Given the description of an element on the screen output the (x, y) to click on. 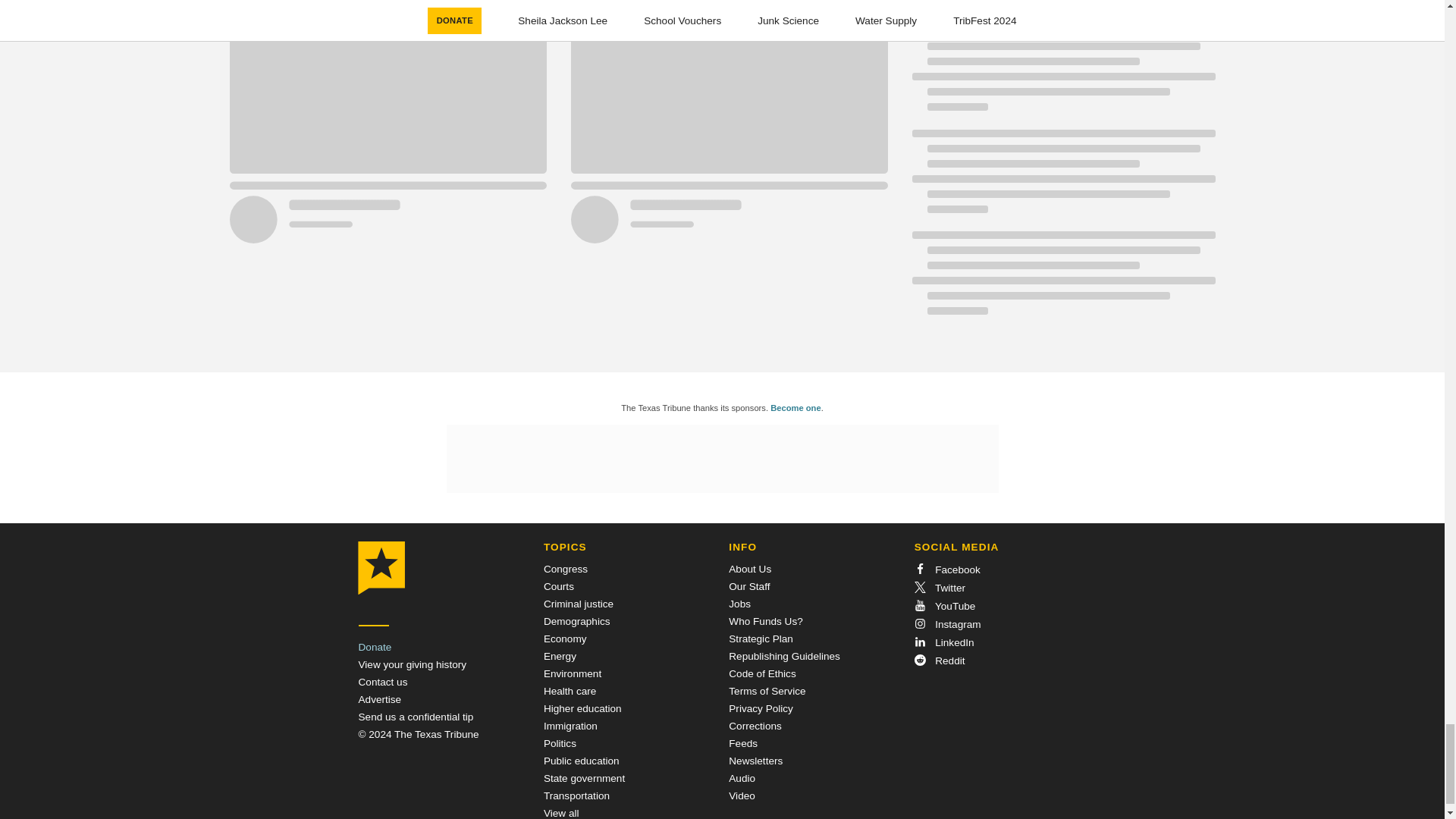
Loading indicator (557, 5)
Privacy Policy (761, 708)
Advertise (379, 699)
Who Funds Us? (765, 621)
Video (742, 795)
Strategic Plan (761, 638)
Newsletters (756, 760)
Republishing Guidelines (784, 655)
Audio (742, 778)
Facebook (946, 569)
Contact us (382, 681)
Donate (374, 646)
Terms of Service (767, 690)
Corrections (755, 726)
View your giving history (411, 664)
